Given the description of an element on the screen output the (x, y) to click on. 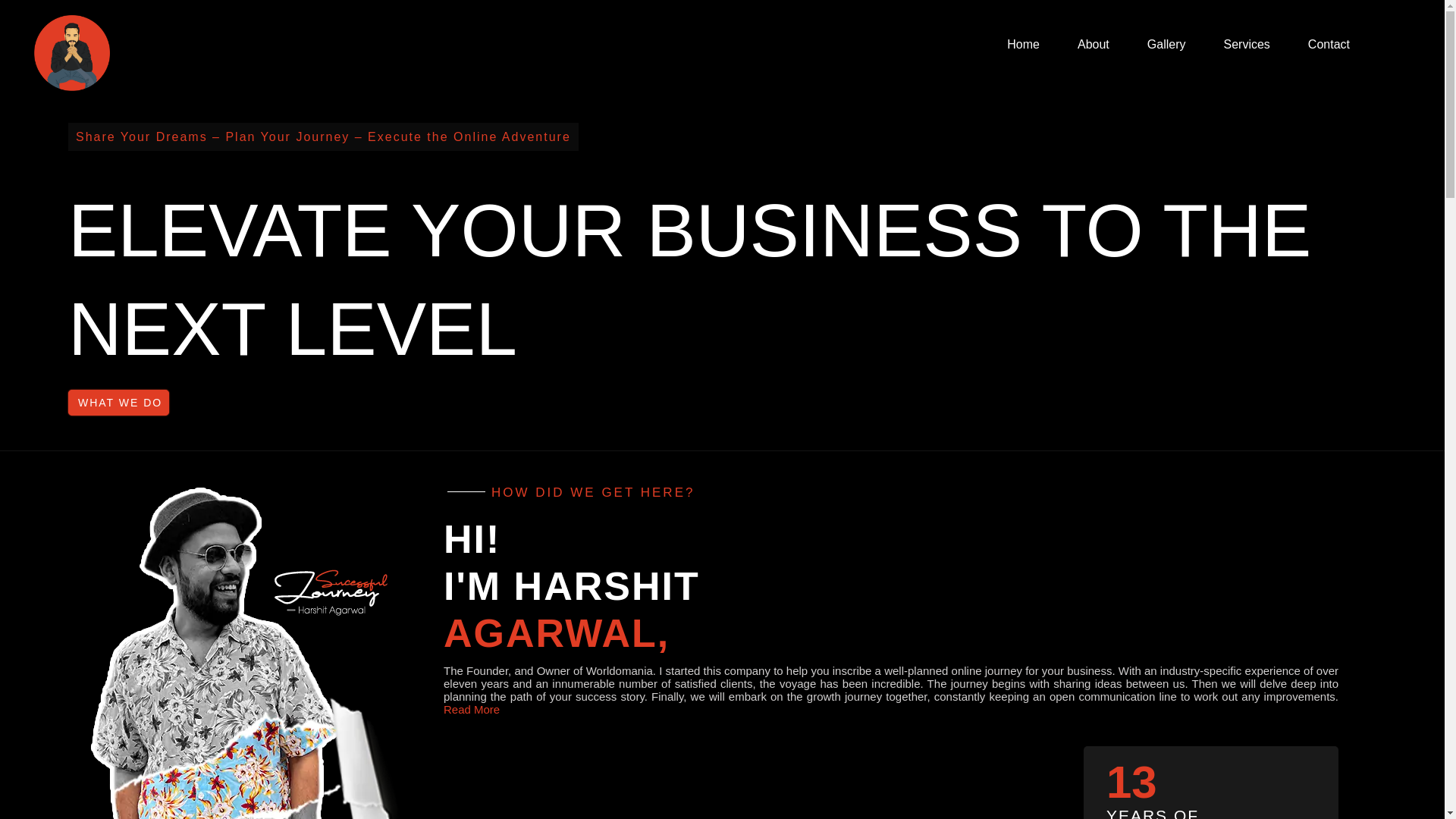
WHAT WE DO (118, 402)
Services (1246, 44)
Home (1023, 44)
Read More (471, 708)
Contact (1328, 44)
Gallery (1166, 44)
About (1093, 44)
